Given the description of an element on the screen output the (x, y) to click on. 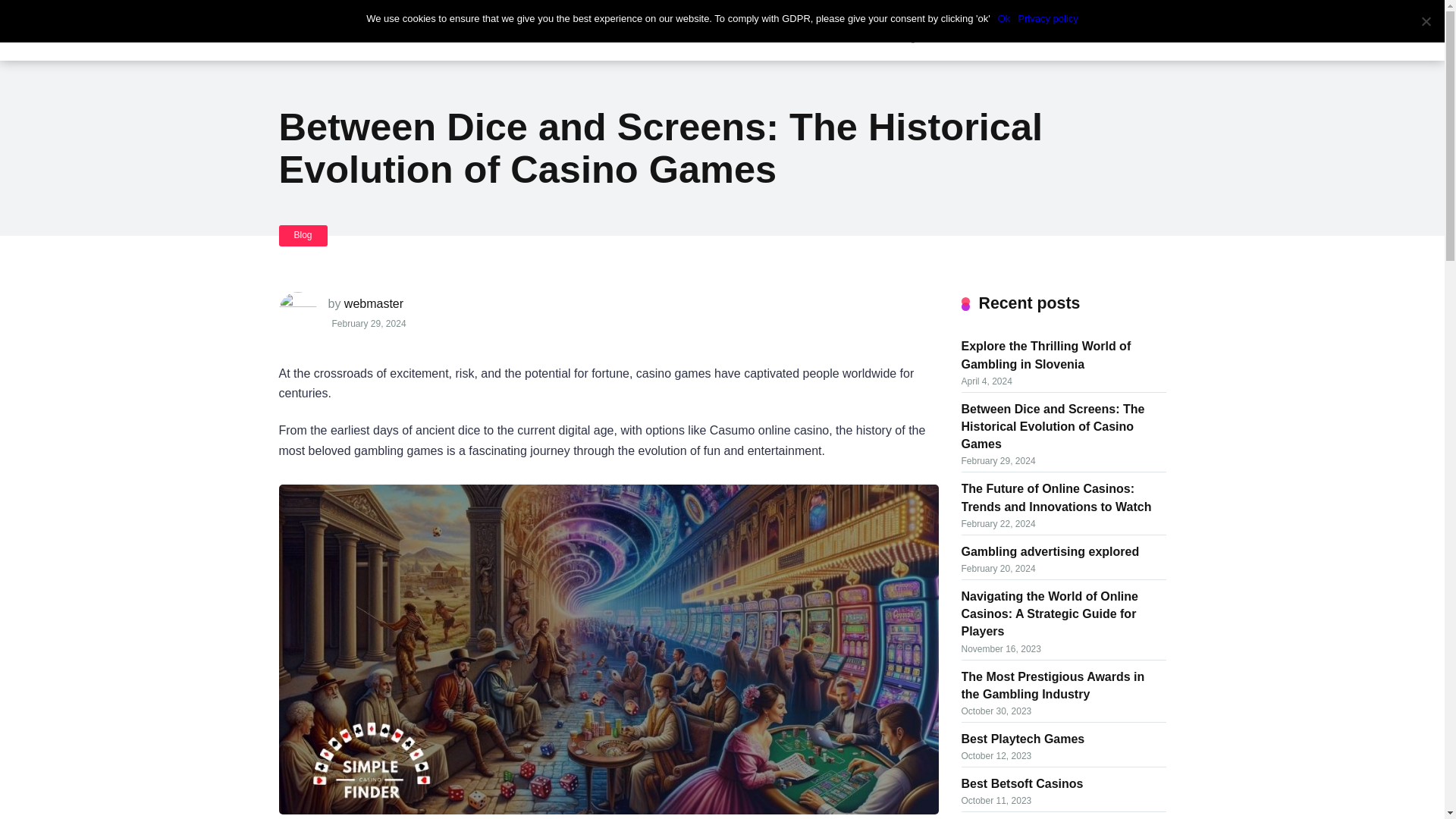
Bonus (649, 30)
No (1425, 20)
Blog (303, 235)
Posts by webmaster (373, 303)
Simple Casino Finder (374, 17)
Gambling advertising explored (1050, 549)
SIMPLE CASINO FINDER (374, 17)
Home (523, 30)
Best Betsoft Casinos (1021, 782)
webmaster (373, 303)
The Most Prestigious Awards in the Gambling Industry (1052, 684)
Best Netent Casino (1016, 817)
